Given the description of an element on the screen output the (x, y) to click on. 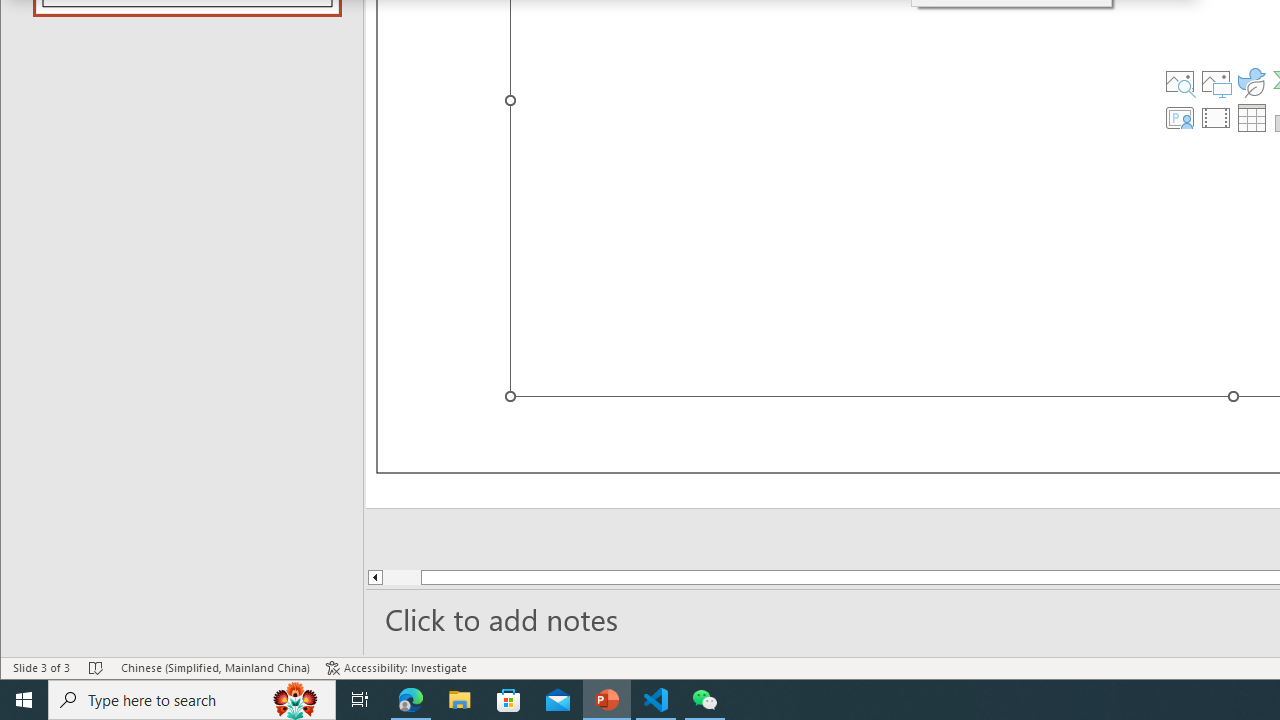
Search highlights icon opens search home window (295, 699)
File Explorer (460, 699)
PowerPoint - 1 running window (607, 699)
Type here to search (191, 699)
WeChat - 1 running window (704, 699)
Insert Cameo (1179, 117)
